Given the description of an element on the screen output the (x, y) to click on. 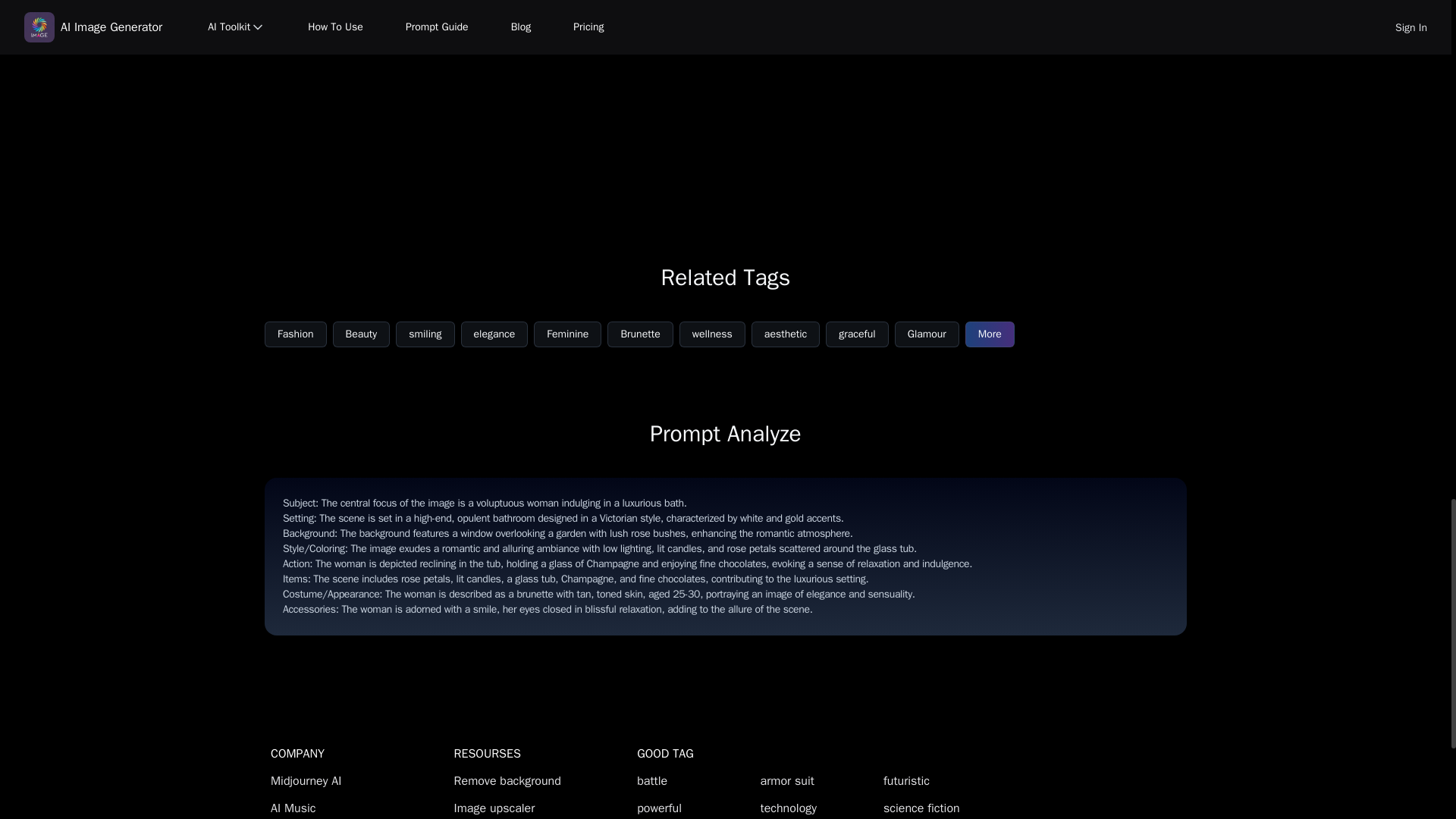
technology (817, 808)
Glamour (927, 334)
More (989, 334)
powerful (694, 808)
aesthetic (785, 334)
science fiction (940, 808)
armor suit (817, 781)
elegance (494, 334)
Midjourney AI (359, 781)
Midjourney AI (359, 781)
